Given the description of an element on the screen output the (x, y) to click on. 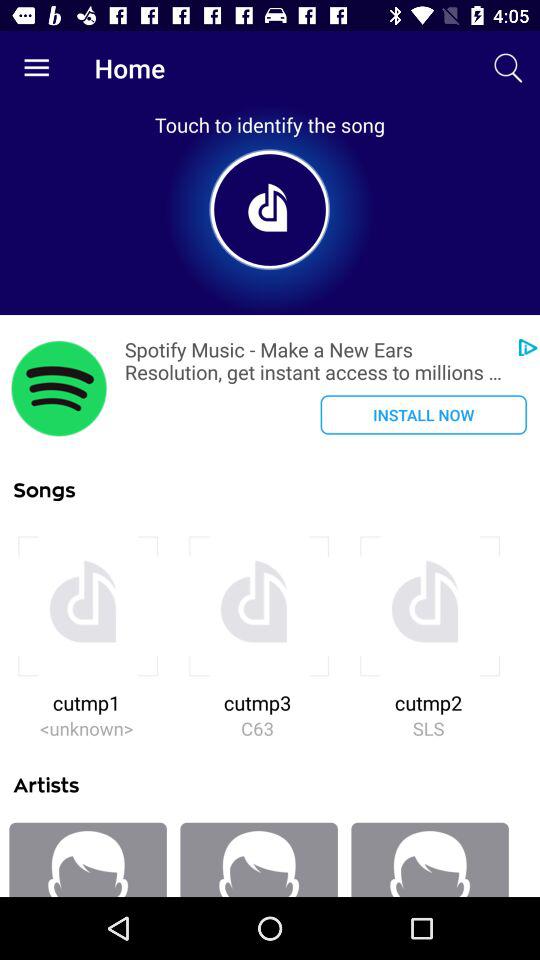
choose install now item (423, 414)
